Given the description of an element on the screen output the (x, y) to click on. 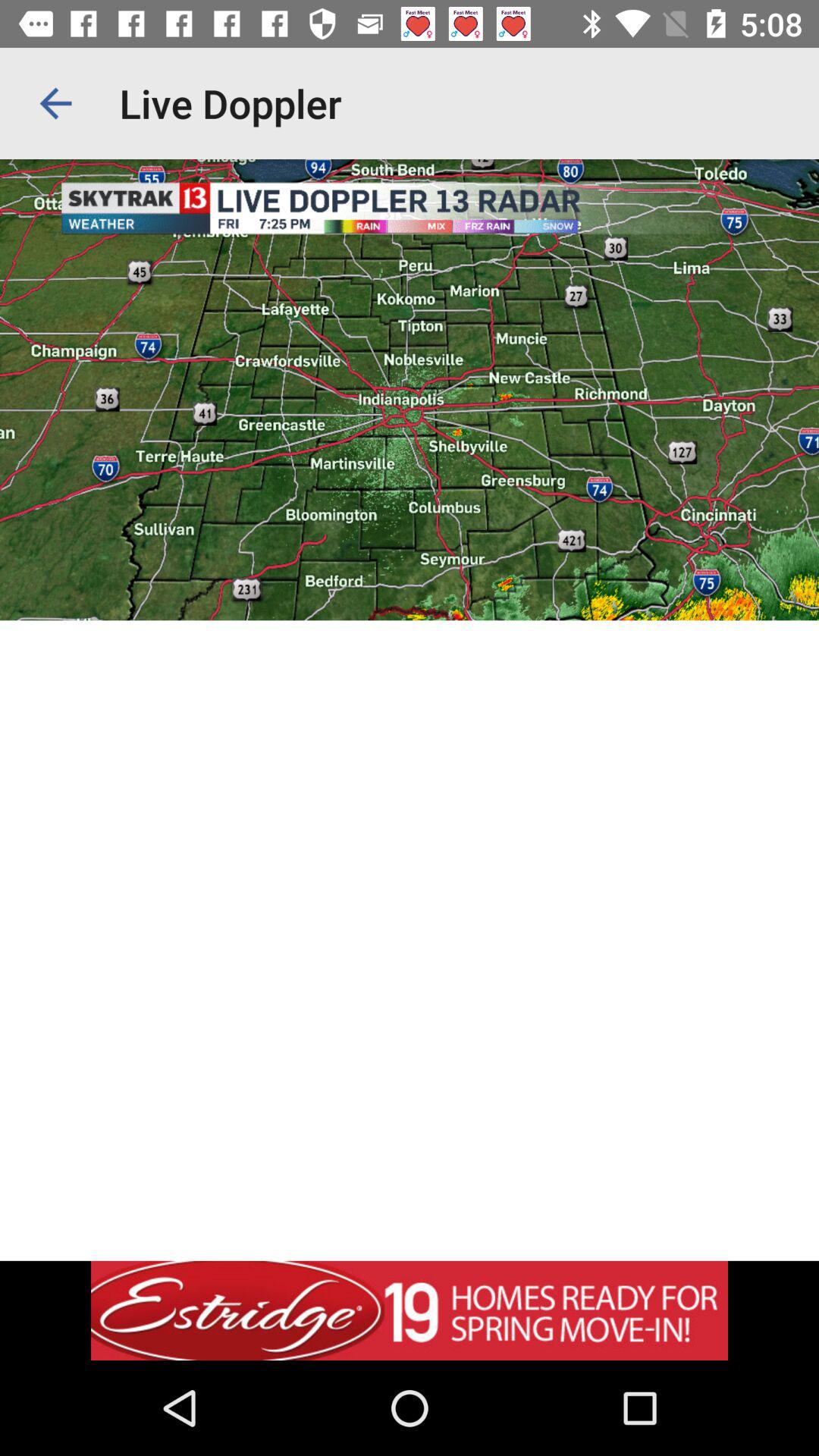
go to advertisement page (409, 1310)
